Given the description of an element on the screen output the (x, y) to click on. 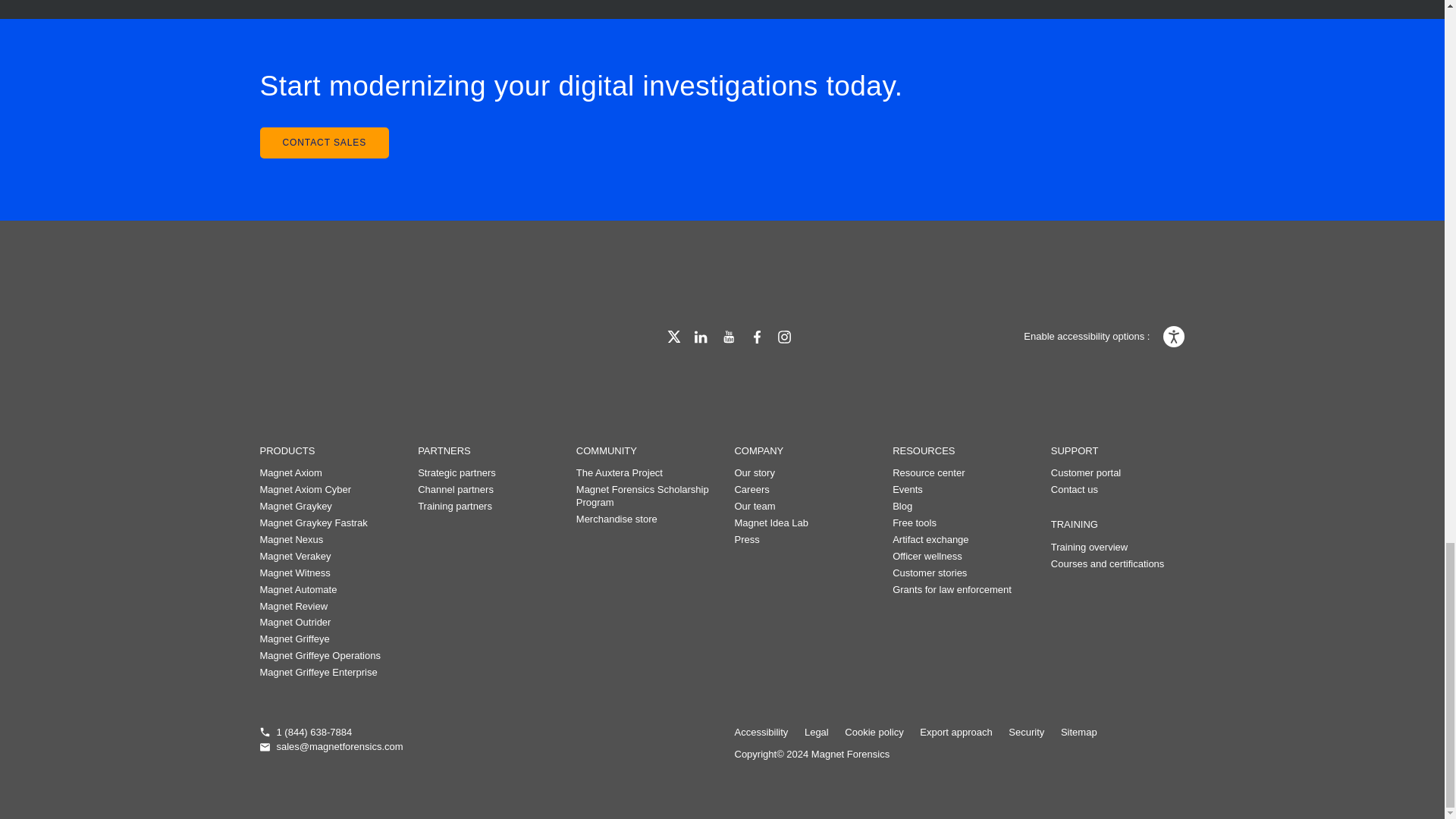
Home (338, 334)
Twitter (672, 336)
LinkedIn (700, 336)
YouTube (728, 336)
Facebook (756, 336)
Instagram (783, 336)
